Given the description of an element on the screen output the (x, y) to click on. 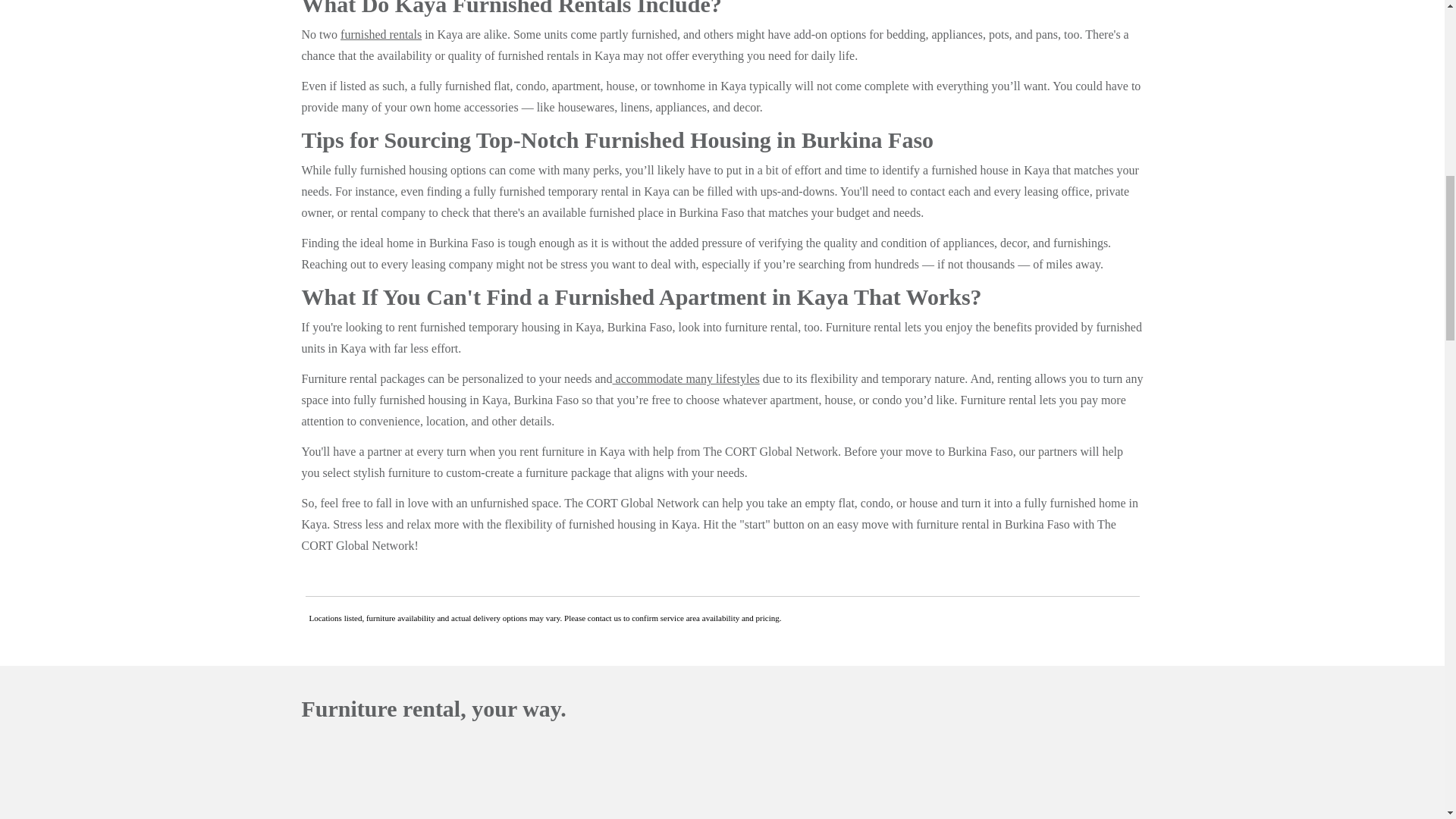
furnished rentals (381, 33)
 accommodate many lifestyles (686, 378)
